Given the description of an element on the screen output the (x, y) to click on. 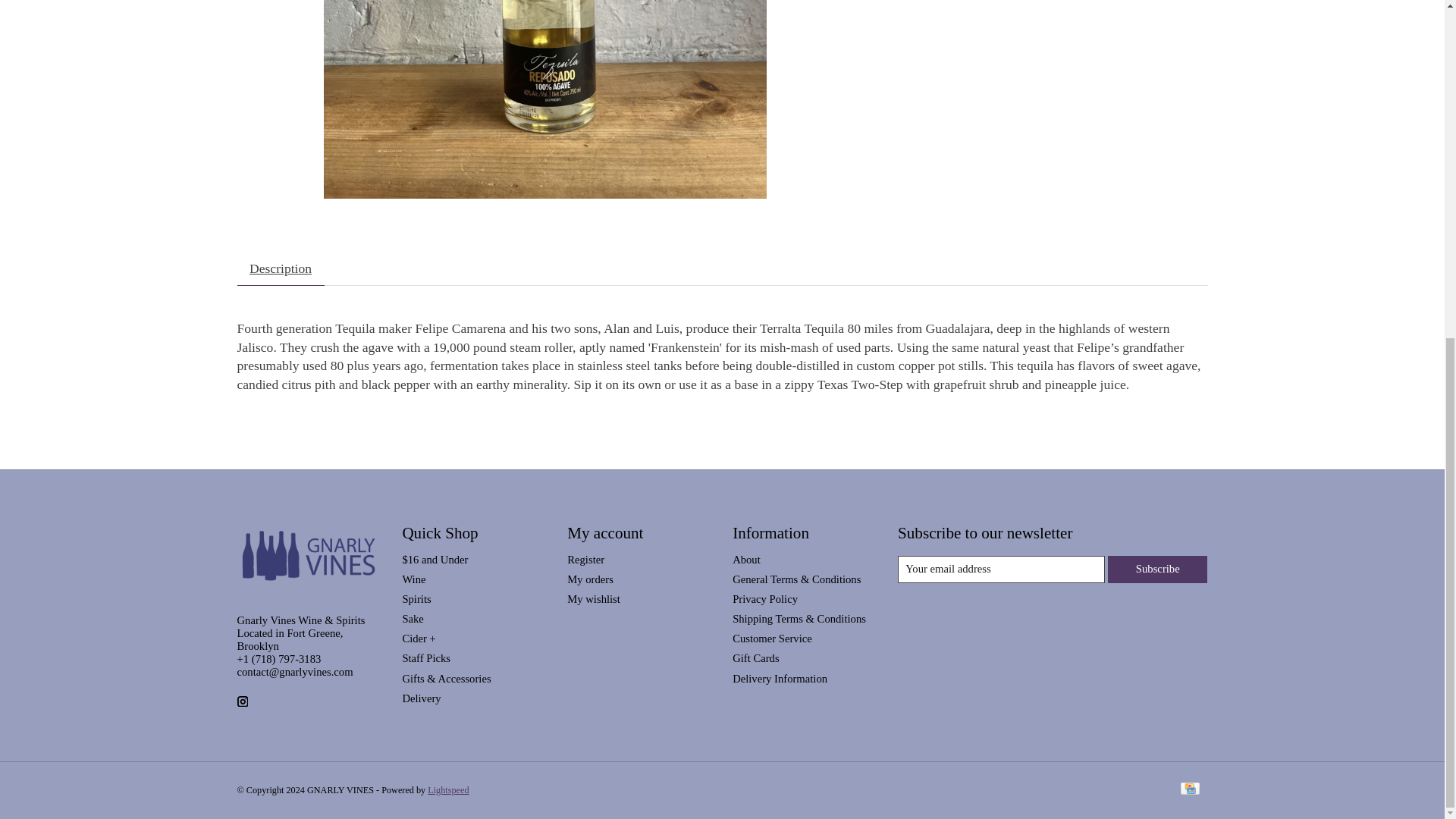
My wishlist (593, 598)
Delivery Information (779, 678)
Gift Cards (755, 657)
My orders (589, 579)
Lightspeed (448, 789)
Credit Card (1188, 789)
Customer Service  (772, 638)
Privacy Policy (764, 598)
Register (585, 559)
About (746, 559)
